Given the description of an element on the screen output the (x, y) to click on. 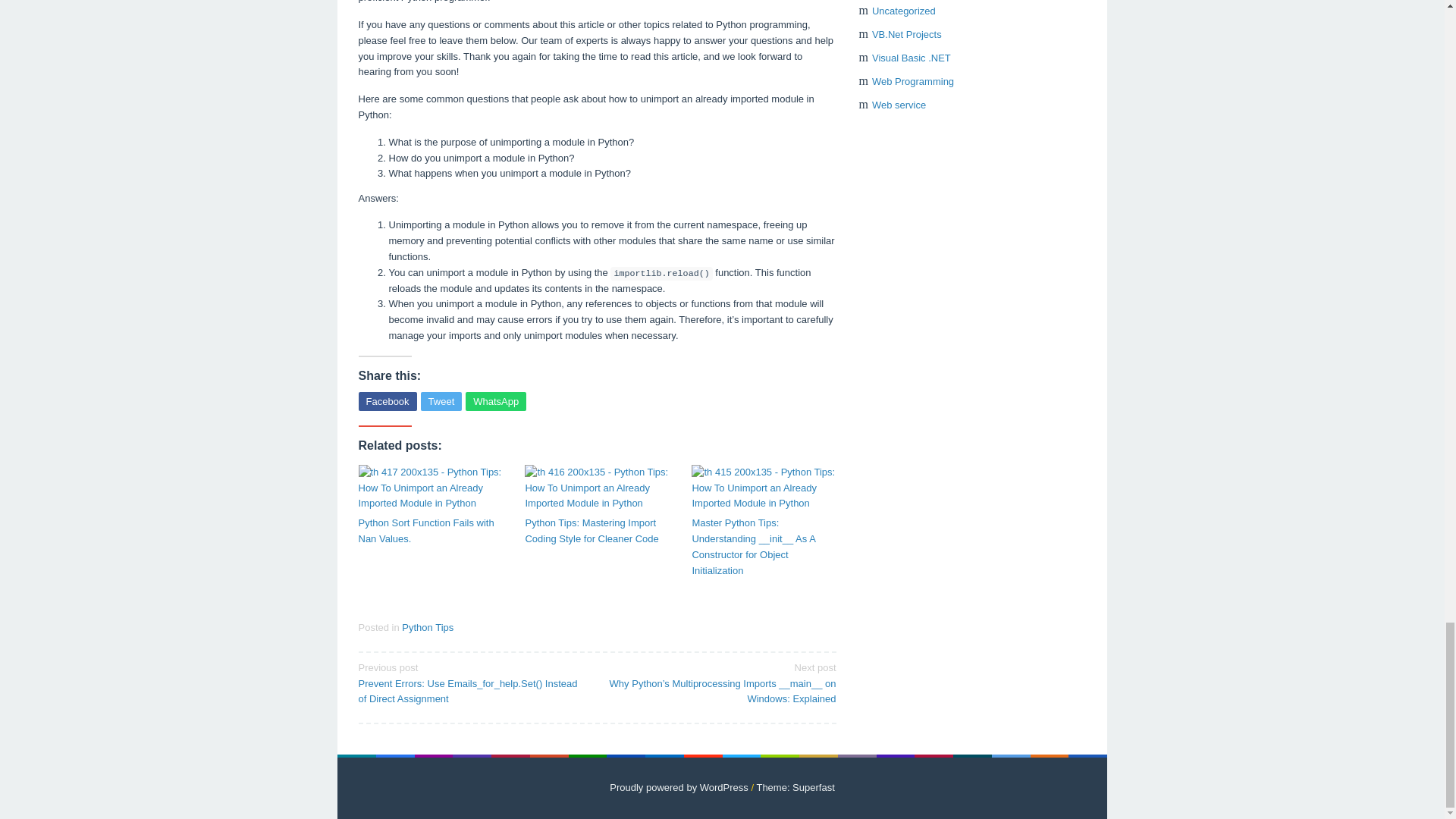
Share this (387, 401)
Tweet (441, 401)
Permalink to: Python Sort Function Fails with Nan Values. (430, 488)
Python Sort Function Fails with Nan Values. (430, 531)
Permalink to: Python Sort Function Fails with Nan Values. (430, 531)
Tweet this (441, 401)
Facebook (387, 401)
Python Tips (426, 627)
Python Tips: Mastering Import Coding Style for Cleaner Code (596, 531)
WhatsApp this (495, 401)
WhatsApp (495, 401)
